Given the description of an element on the screen output the (x, y) to click on. 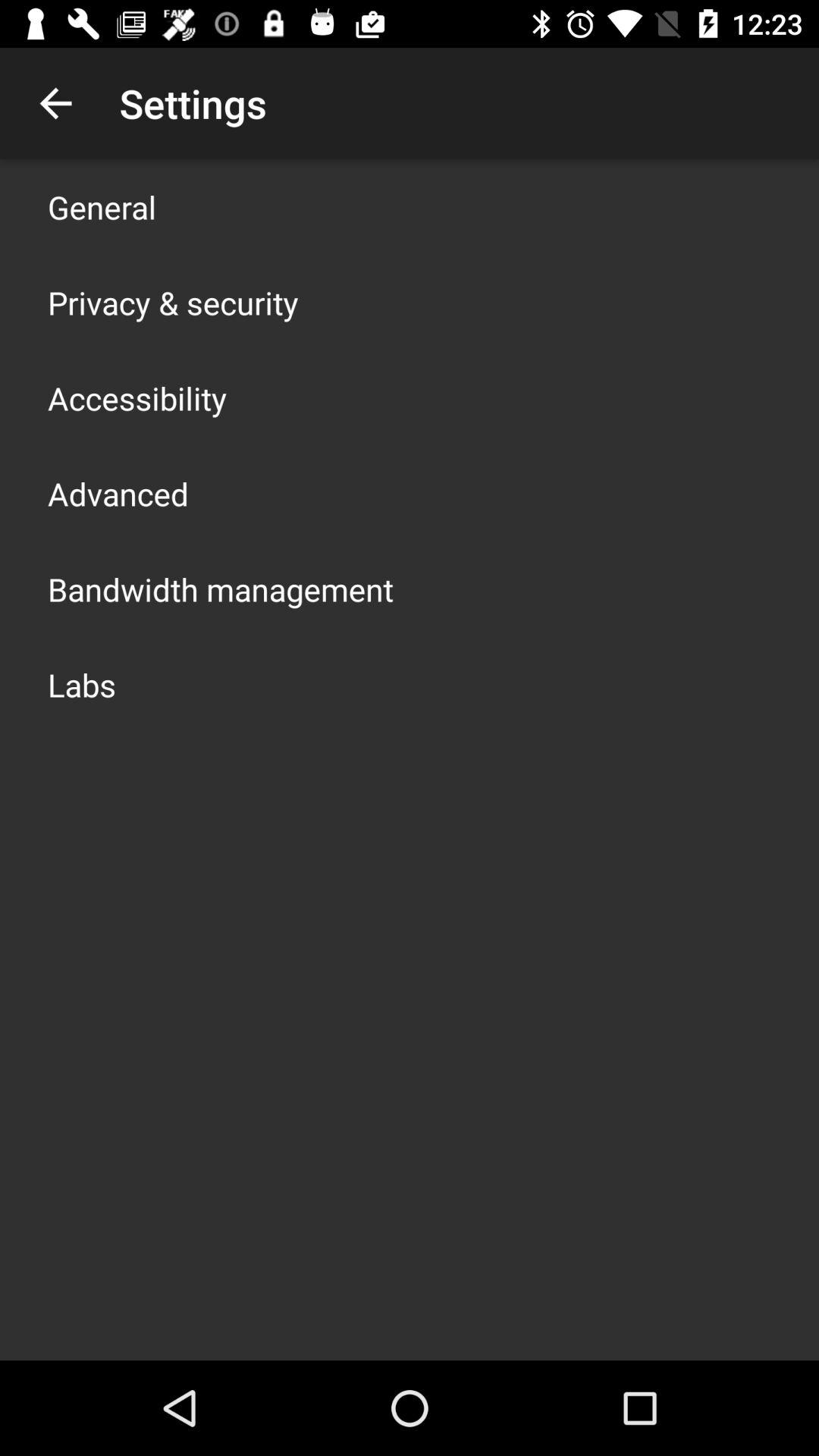
swipe to accessibility item (136, 397)
